Given the description of an element on the screen output the (x, y) to click on. 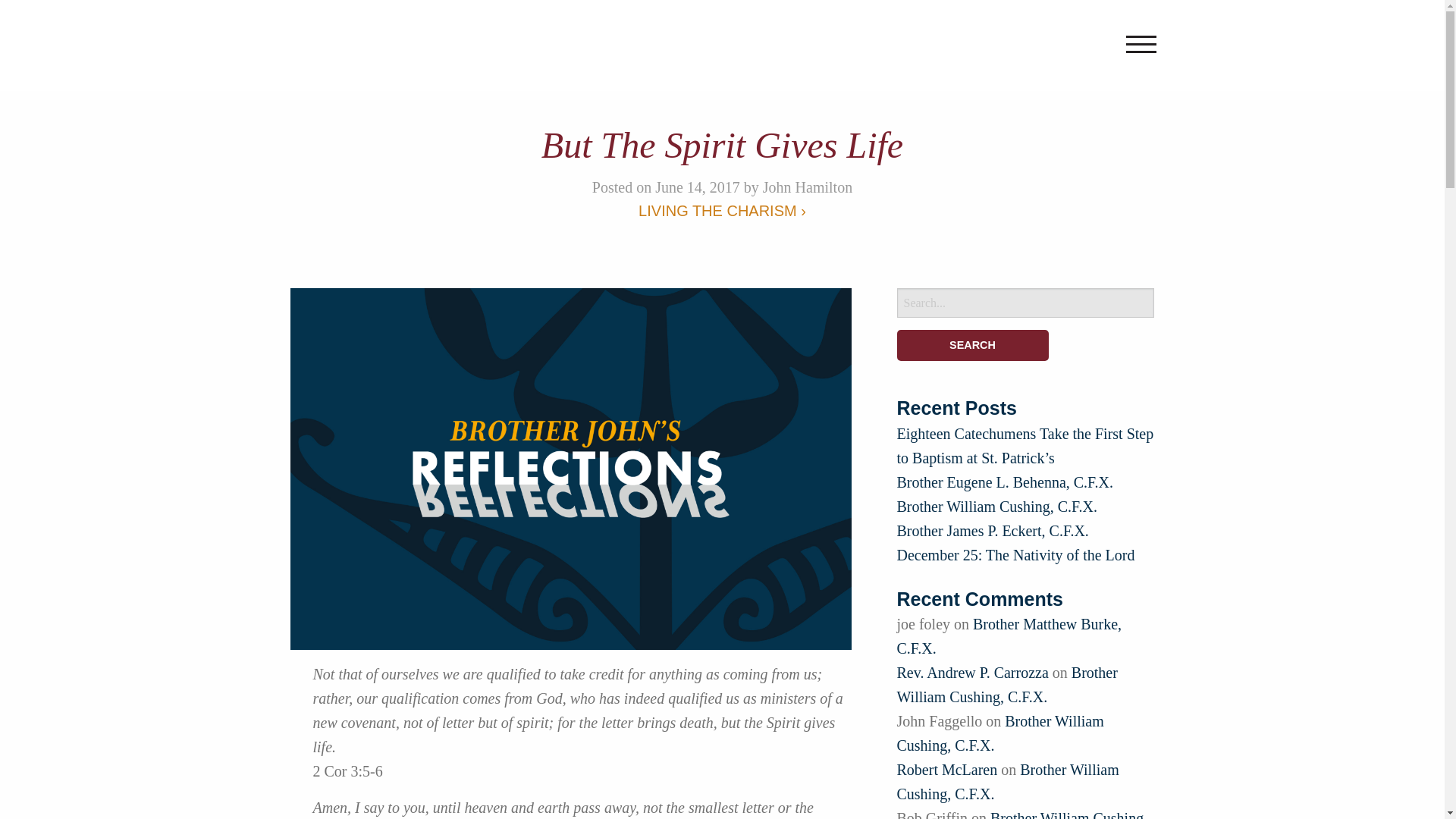
Rev. Andrew P. Carrozza (972, 672)
Search (972, 345)
John Hamilton (806, 186)
Robert McLaren (946, 769)
Brother William Cushing, C.F.X. (999, 732)
Brother James P. Eckert, C.F.X. (991, 530)
Brother William Cushing, C.F.X. (1006, 684)
Brother William Cushing, C.F.X. (996, 506)
Search for: (1025, 302)
Brother William Cushing, C.F.X. (1021, 814)
